Given the description of an element on the screen output the (x, y) to click on. 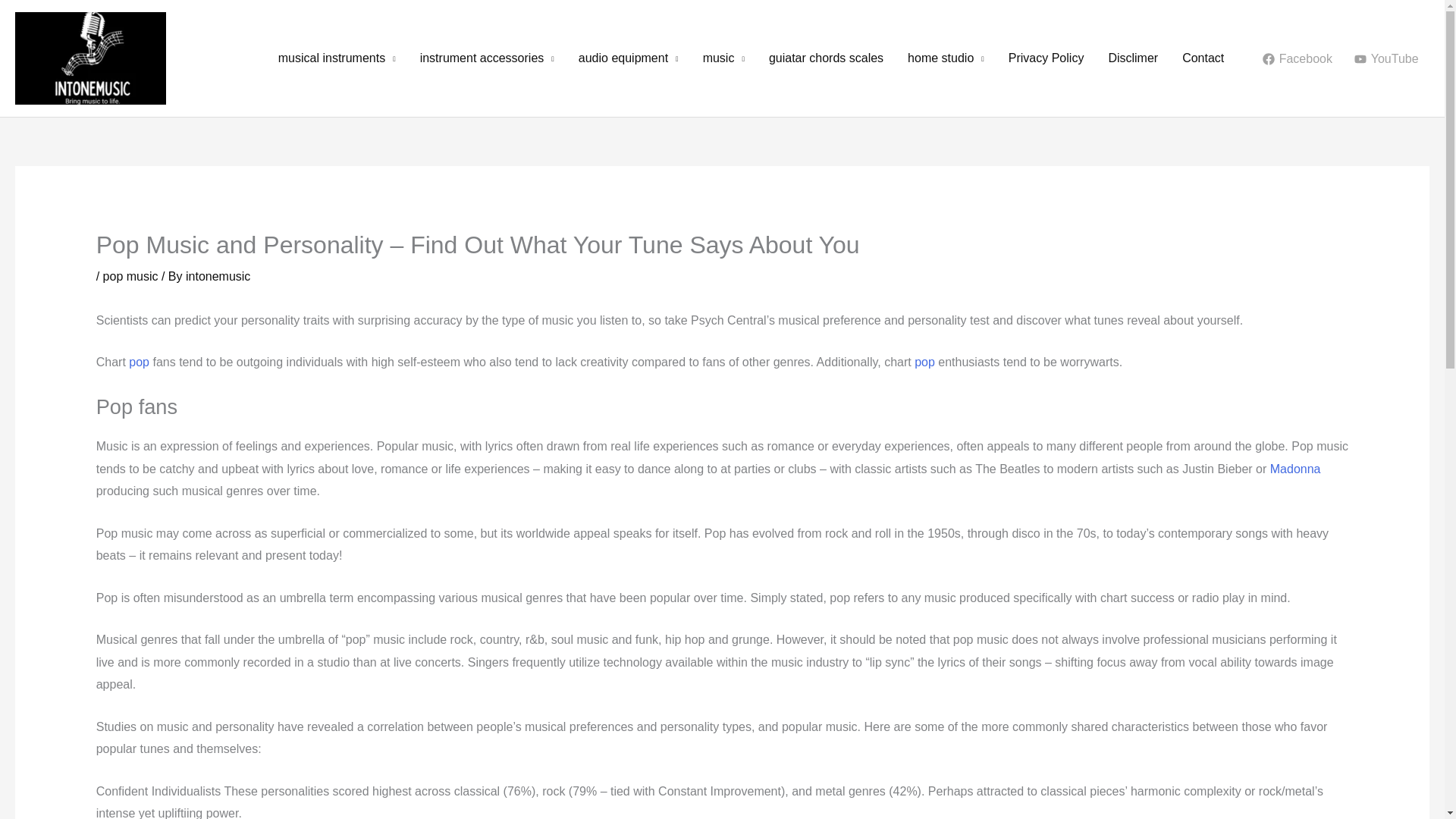
View all posts by intonemusic (218, 276)
instrument accessories (486, 58)
audio equipment (628, 58)
musical instruments (336, 58)
